Given the description of an element on the screen output the (x, y) to click on. 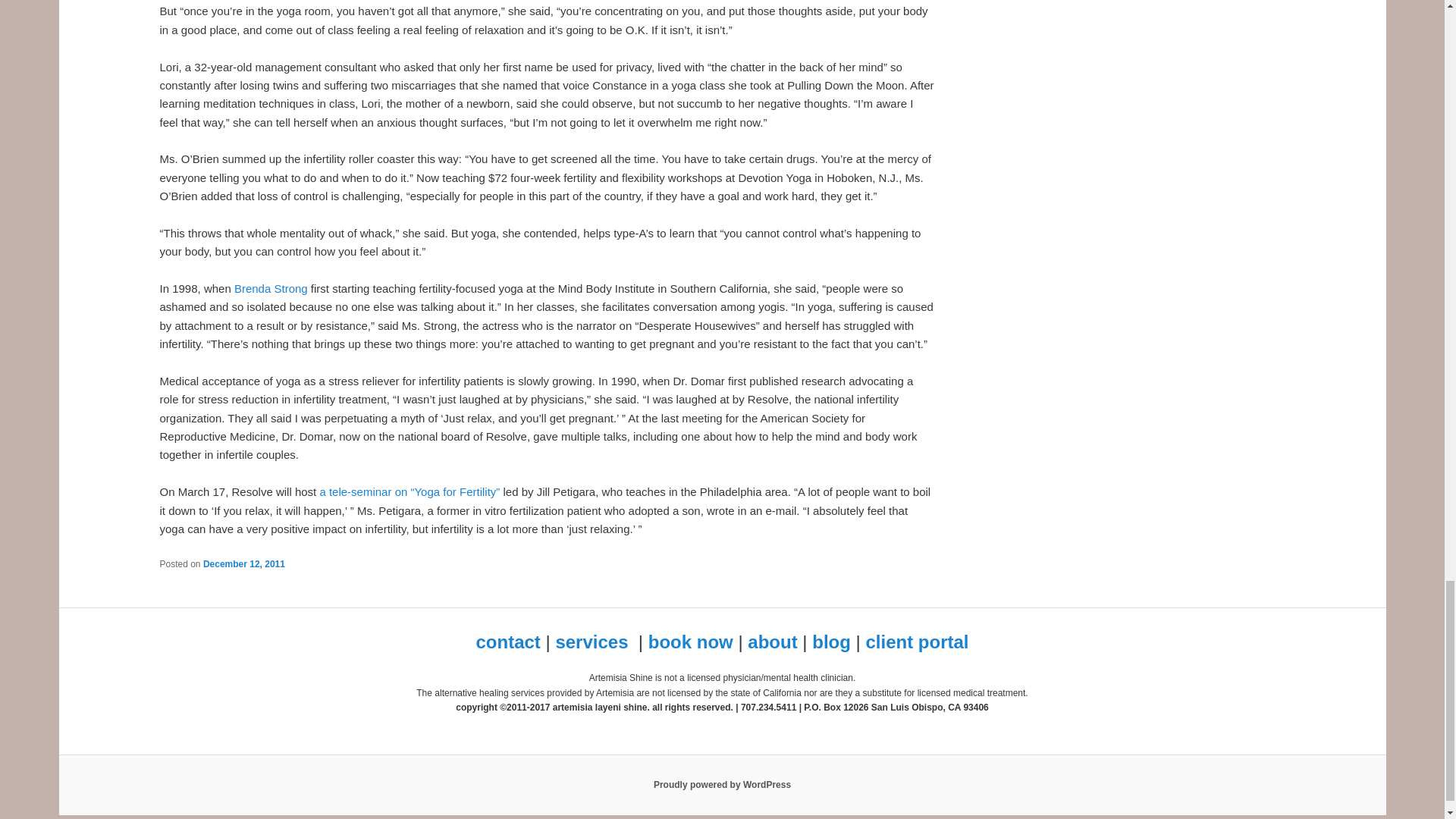
Teleseminars offered by Resolve. (408, 491)
December 12, 2011 (244, 563)
Brenda Strong (270, 287)
11:18 pm (244, 563)
Semantic Personal Publishing Platform (721, 784)
